Given the description of an element on the screen output the (x, y) to click on. 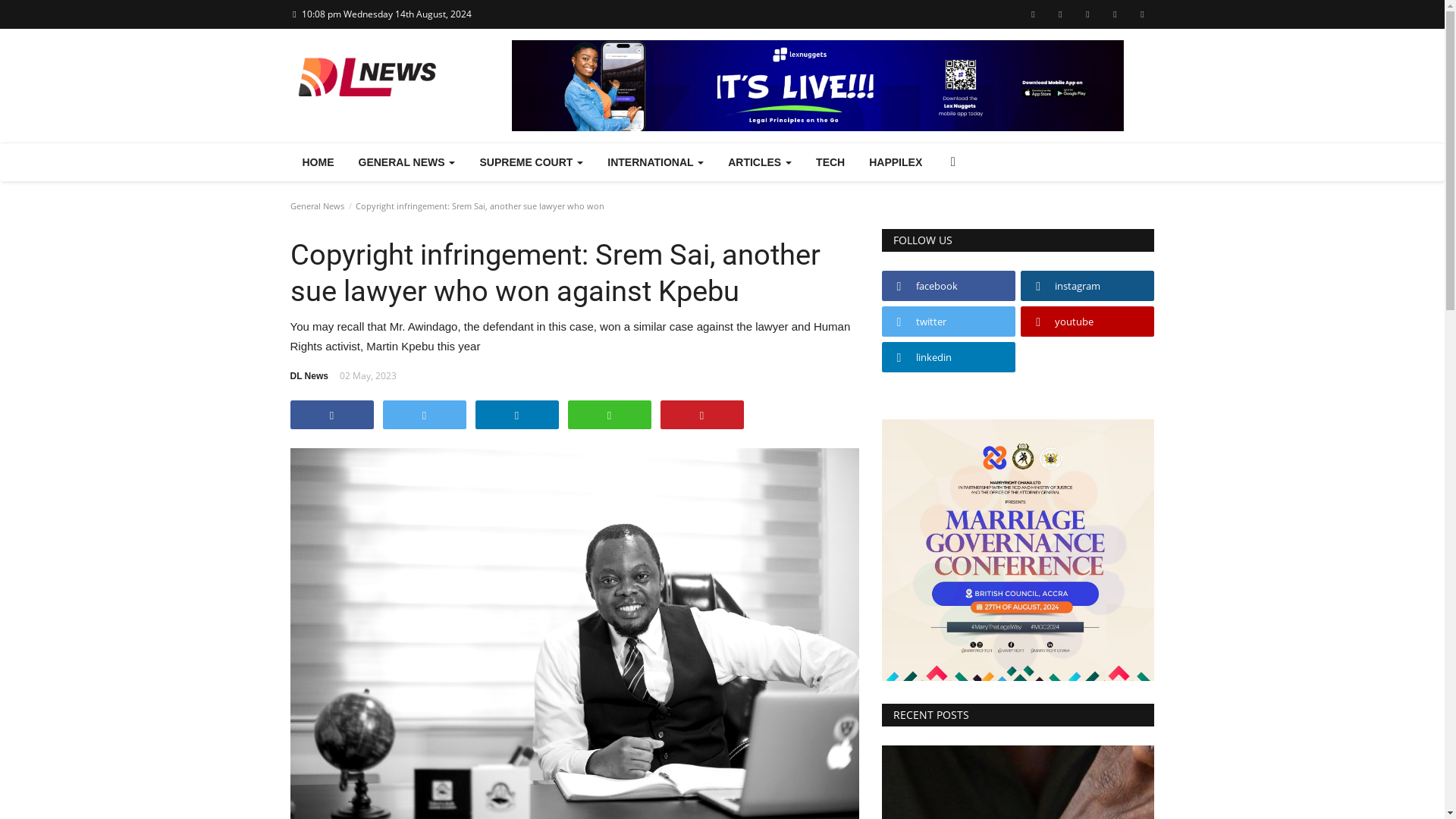
GENERAL NEWS (406, 161)
2024 Marriage Governance Conference (1017, 549)
Lex Nuggets is LIVE (818, 85)
HAPPILEX (895, 161)
INTERNATIONAL (655, 161)
ARTICLES (759, 161)
SUPREME COURT (531, 161)
TECH (830, 161)
HOME (317, 161)
